Given the description of an element on the screen output the (x, y) to click on. 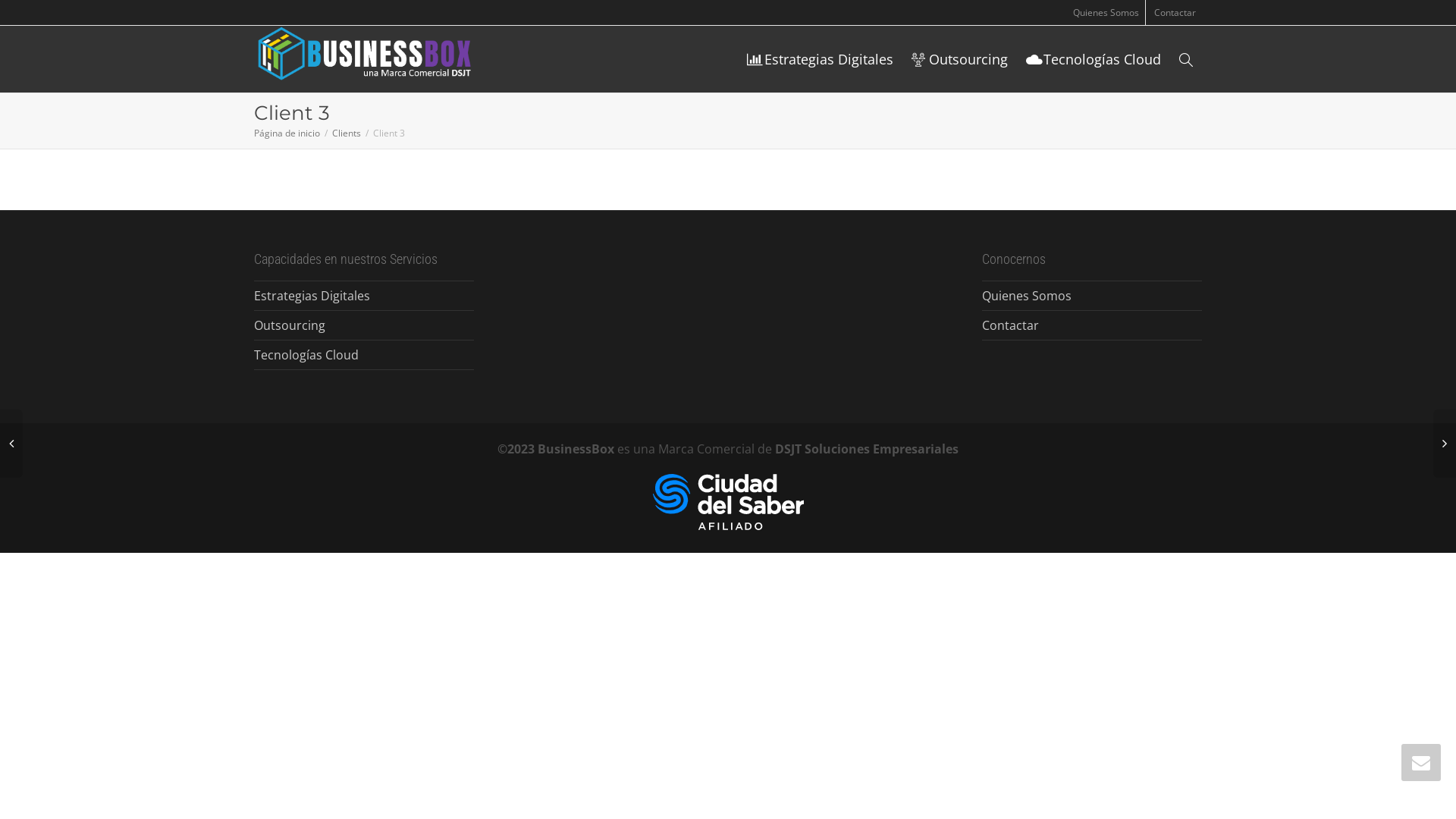
Clients Element type: text (346, 132)
Estrategias Digitales Element type: text (363, 295)
Quienes Somos Element type: text (1091, 295)
Outsourcing Element type: text (959, 58)
Outsourcing Element type: text (363, 325)
Contactar Element type: text (1174, 12)
BusinessBox DSJT Element type: hover (372, 58)
Contactar Element type: text (1091, 325)
Quienes Somos Element type: text (1105, 12)
Estrategias Digitales Element type: text (819, 58)
